Given the description of an element on the screen output the (x, y) to click on. 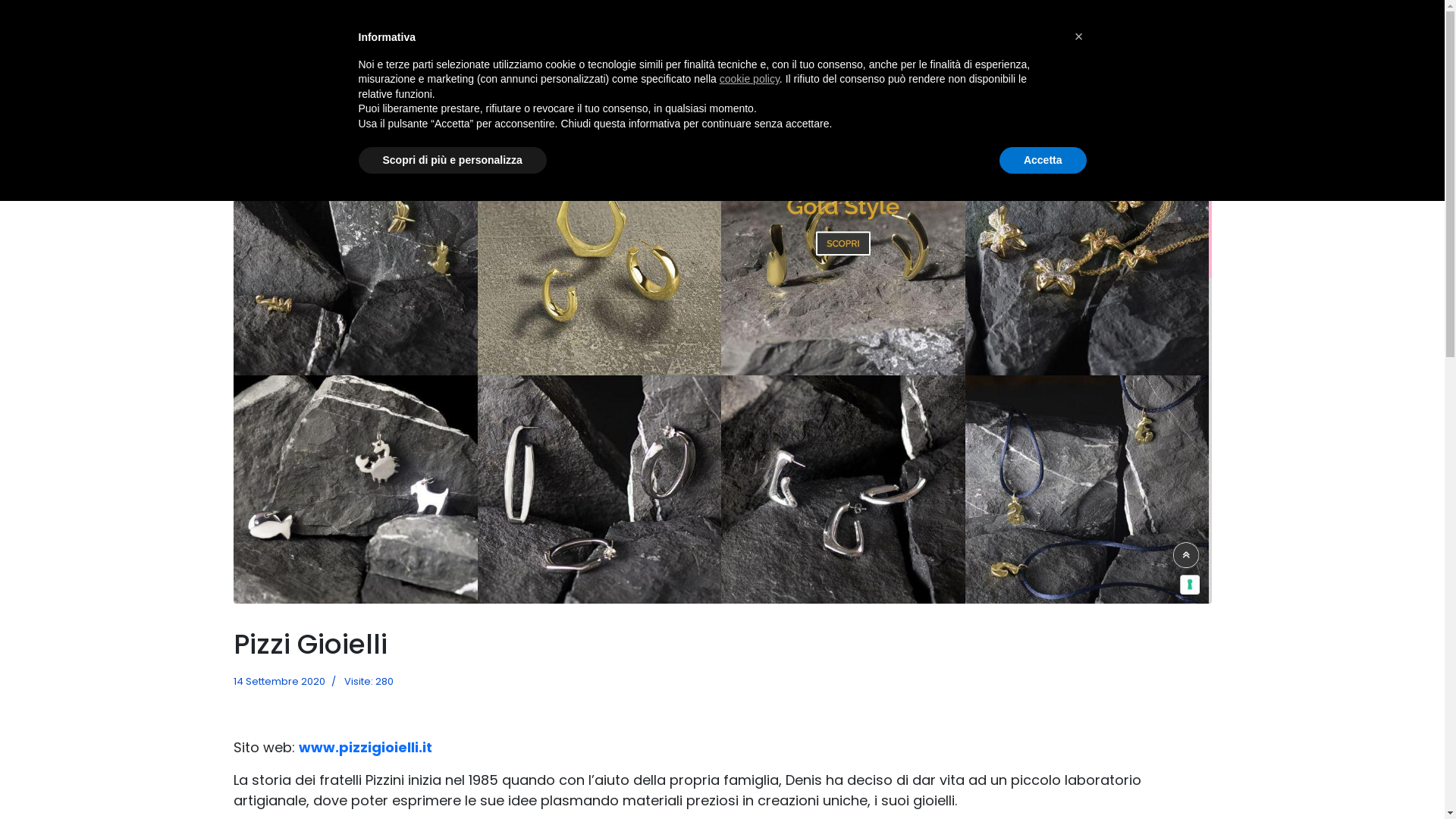
Menu Element type: hover (1201, 22)
Accetta Element type: text (1042, 160)
cookie policy Element type: text (749, 78)
www.pizzigioielli.it Element type: text (365, 746)
